Given the description of an element on the screen output the (x, y) to click on. 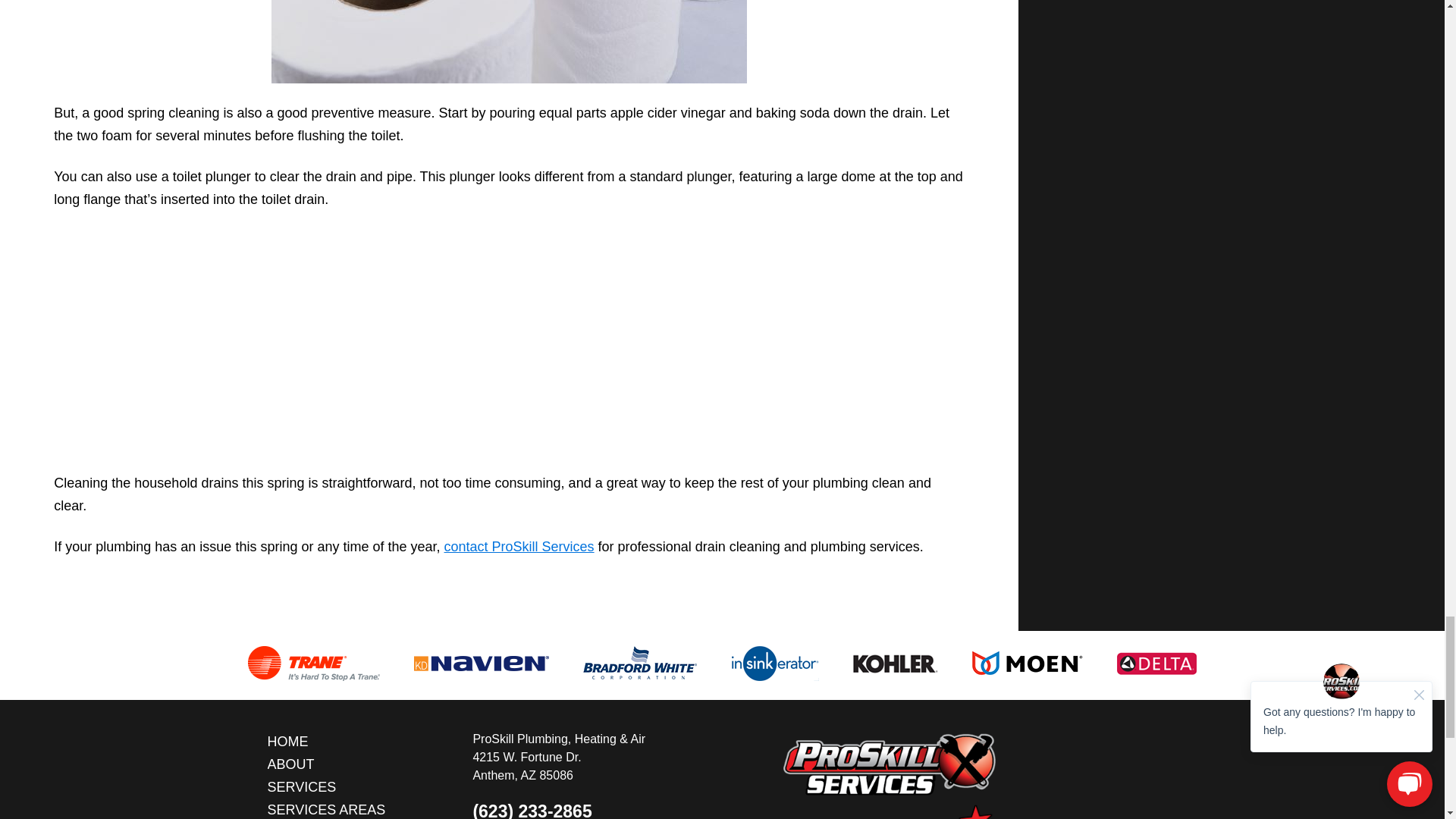
contact ProSkill Services (519, 546)
HOME (325, 741)
YouTube video player (508, 339)
SERVICES (325, 786)
ABOUT (325, 763)
SERVICES AREAS (325, 808)
